Given the description of an element on the screen output the (x, y) to click on. 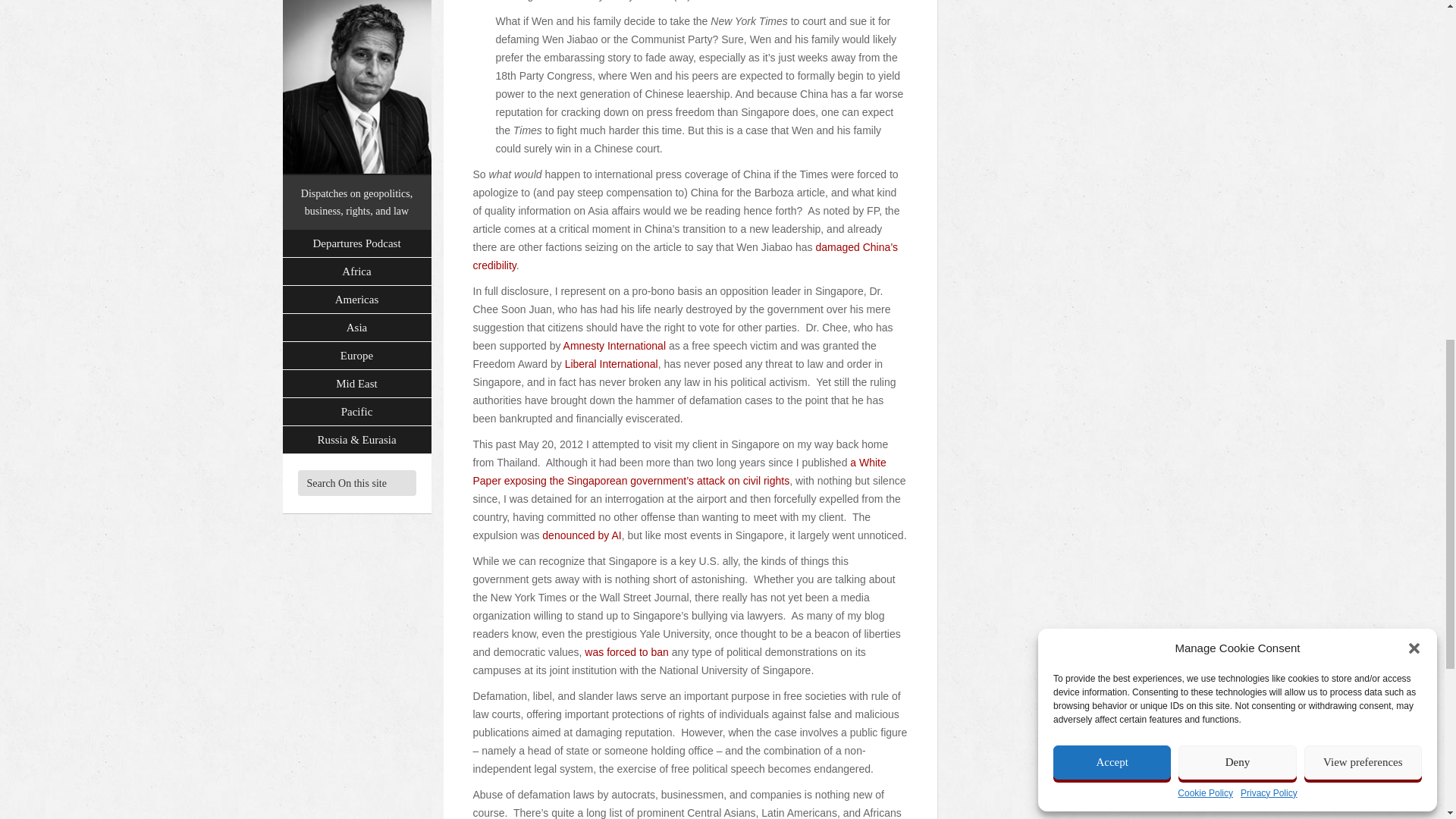
Liberal International (611, 363)
Amnesty International (614, 345)
